Given the description of an element on the screen output the (x, y) to click on. 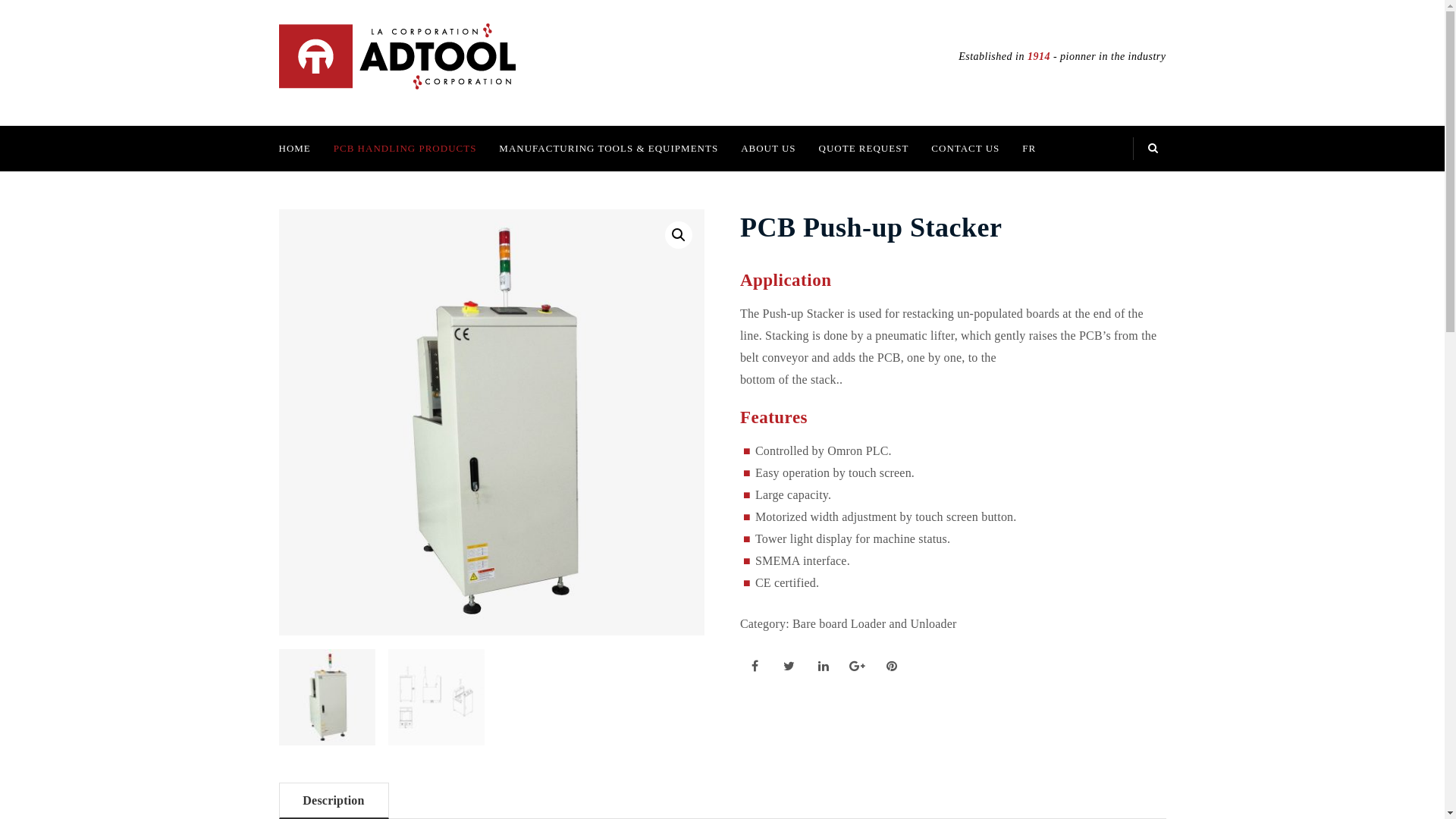
CONTACT US Element type: text (964, 148)
Description Element type: text (333, 800)
PCB-Push-up-Stacker Element type: hover (492, 422)
ABOUT US Element type: text (767, 148)
PCB HANDLING PRODUCTS Element type: text (405, 148)
MANUFACTURING TOOLS & EQUIPMENTS Element type: text (608, 148)
Click to send this page to Twitter! Element type: hover (789, 664)
HOME Element type: text (300, 148)
FR Element type: text (1028, 148)
QUOTE REQUEST Element type: text (863, 148)
Bare board Loader and Unloader Element type: text (874, 623)
